Given the description of an element on the screen output the (x, y) to click on. 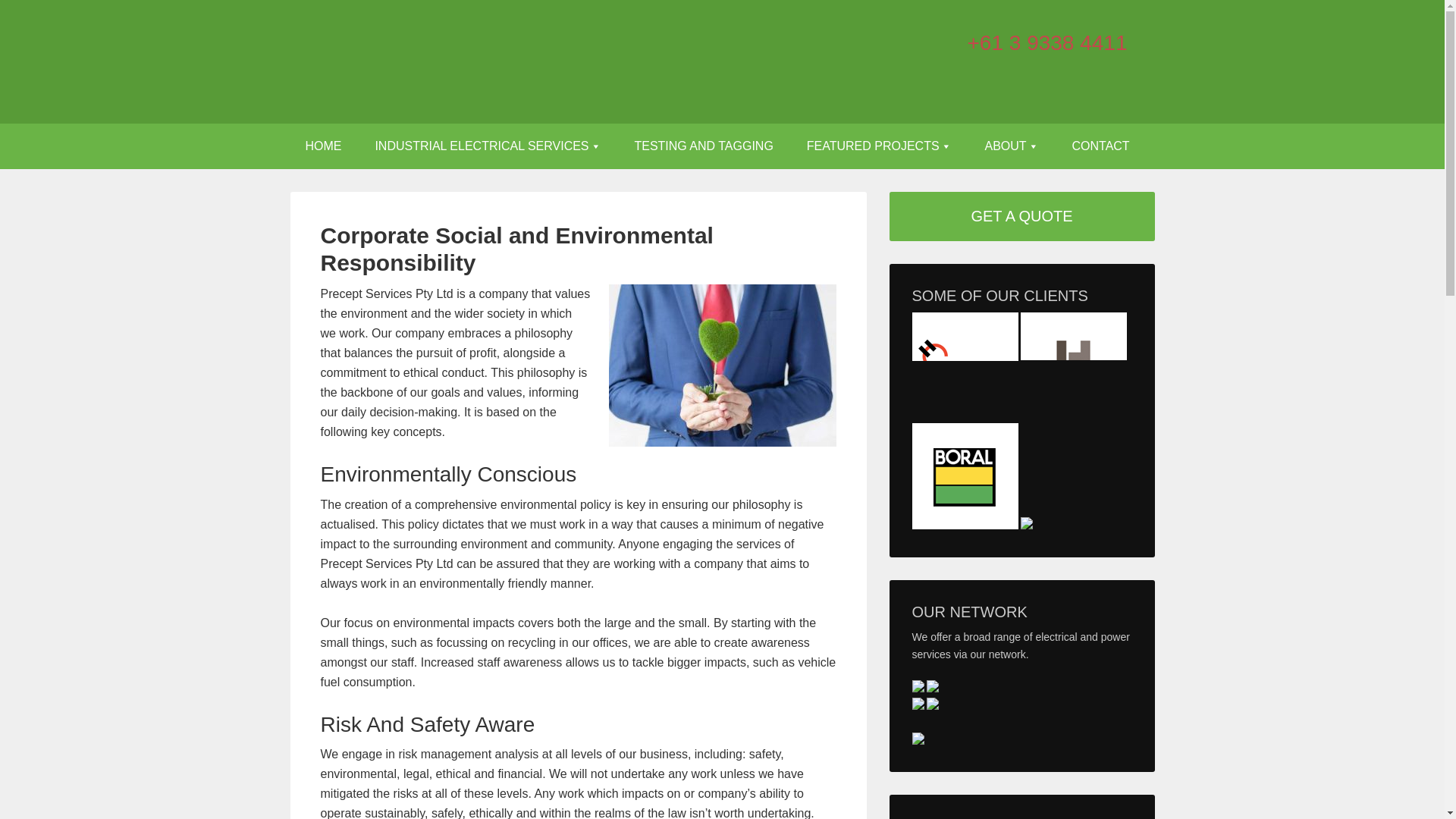
GET A QUOTE (1021, 217)
INDUSTRIAL ELECTRICAL SERVICES (487, 145)
CONTACT (1100, 145)
ABOUT (1010, 145)
PRECEPT SERVICES (418, 61)
TESTING AND TAGGING (702, 145)
HOME (322, 145)
FEATURED PROJECTS (879, 145)
